Given the description of an element on the screen output the (x, y) to click on. 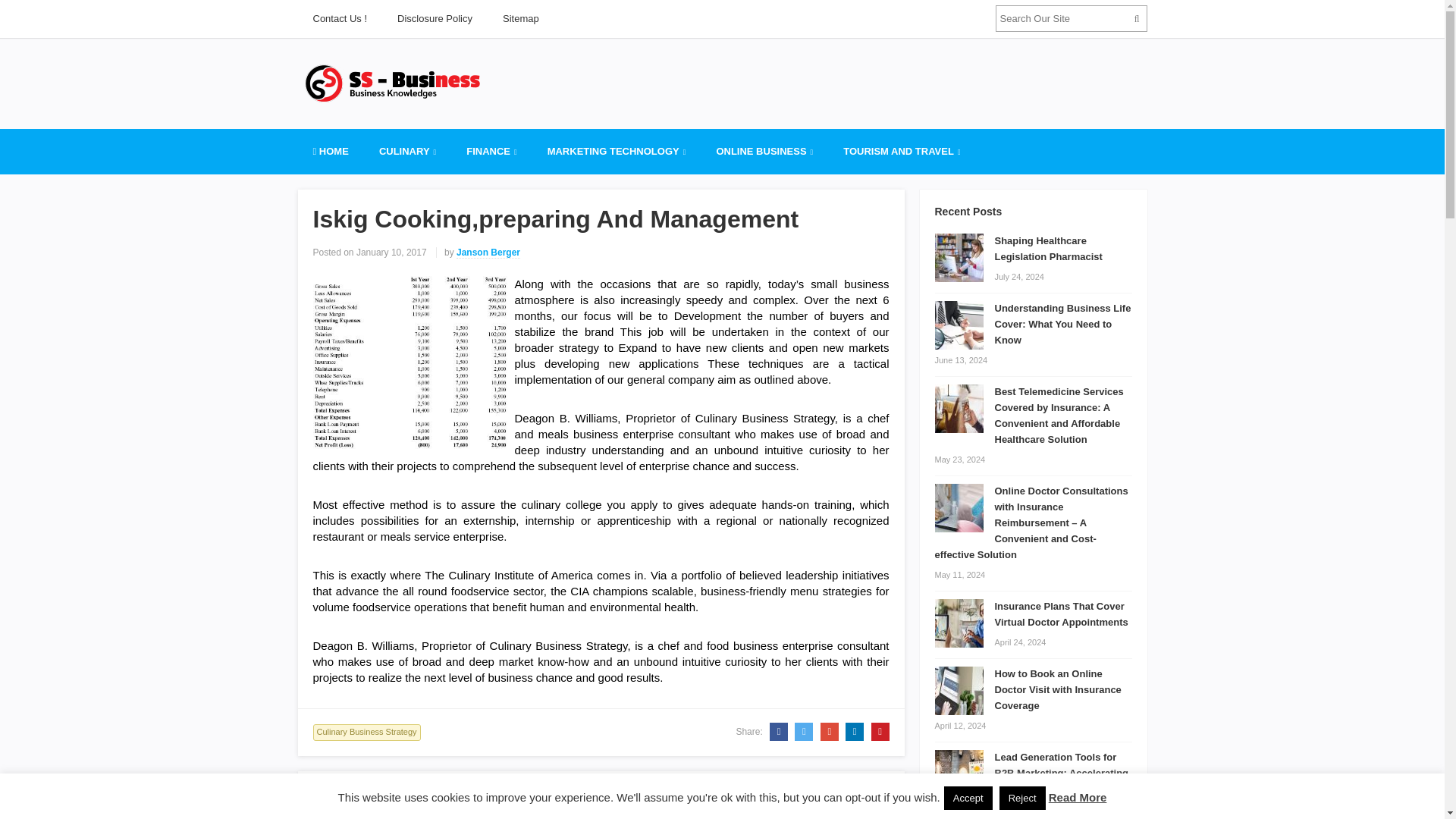
Contact Us ! (339, 18)
Sitemap (520, 18)
Disclosure Policy (434, 18)
